Given the description of an element on the screen output the (x, y) to click on. 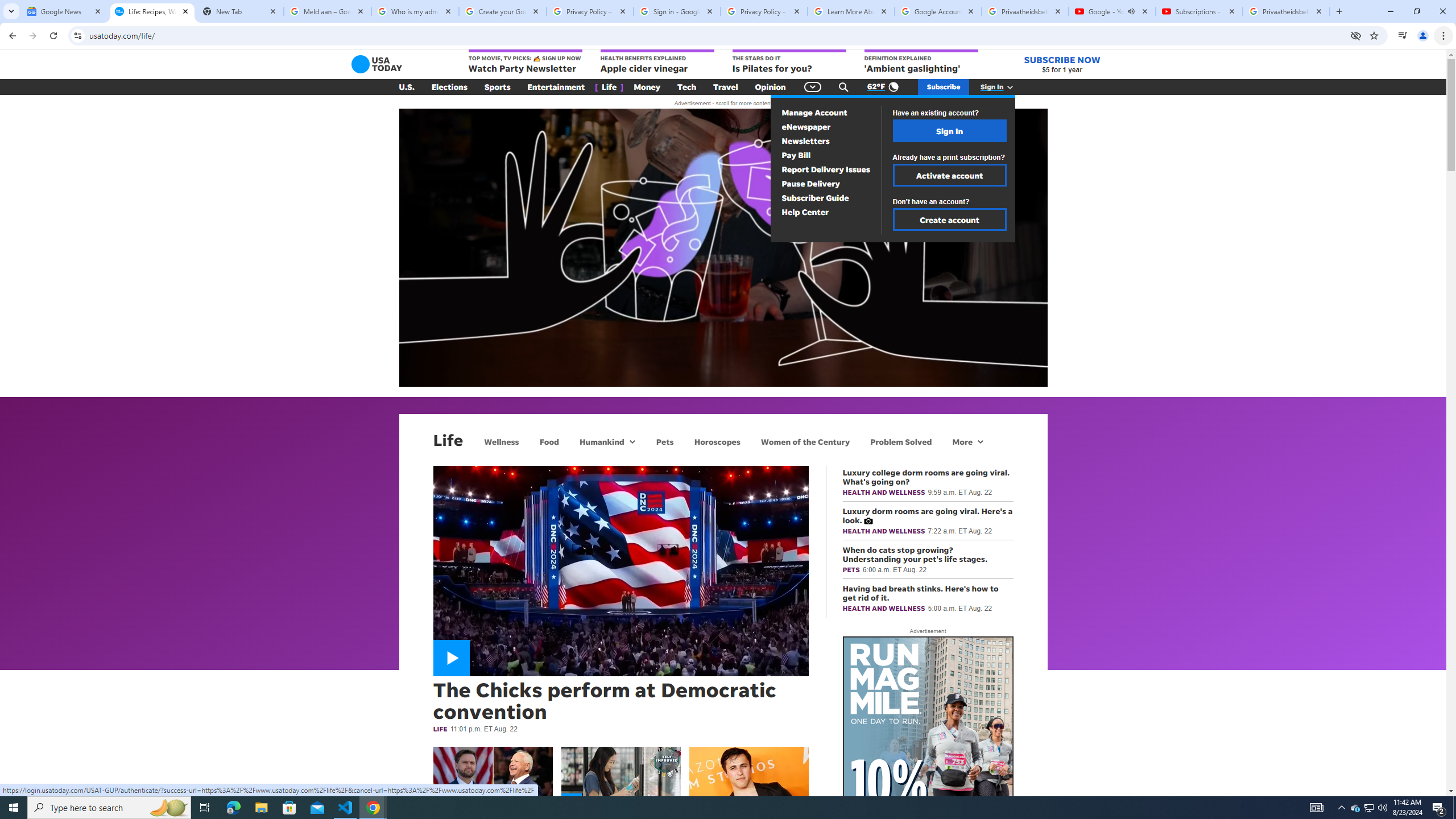
Sign in - Google Accounts (676, 11)
Pause Delivery (810, 183)
Life: Recipes, Wellness & Horoscopes - USA TODAY (151, 11)
Google - YouTube - Audio playing (1111, 11)
